Given the description of an element on the screen output the (x, y) to click on. 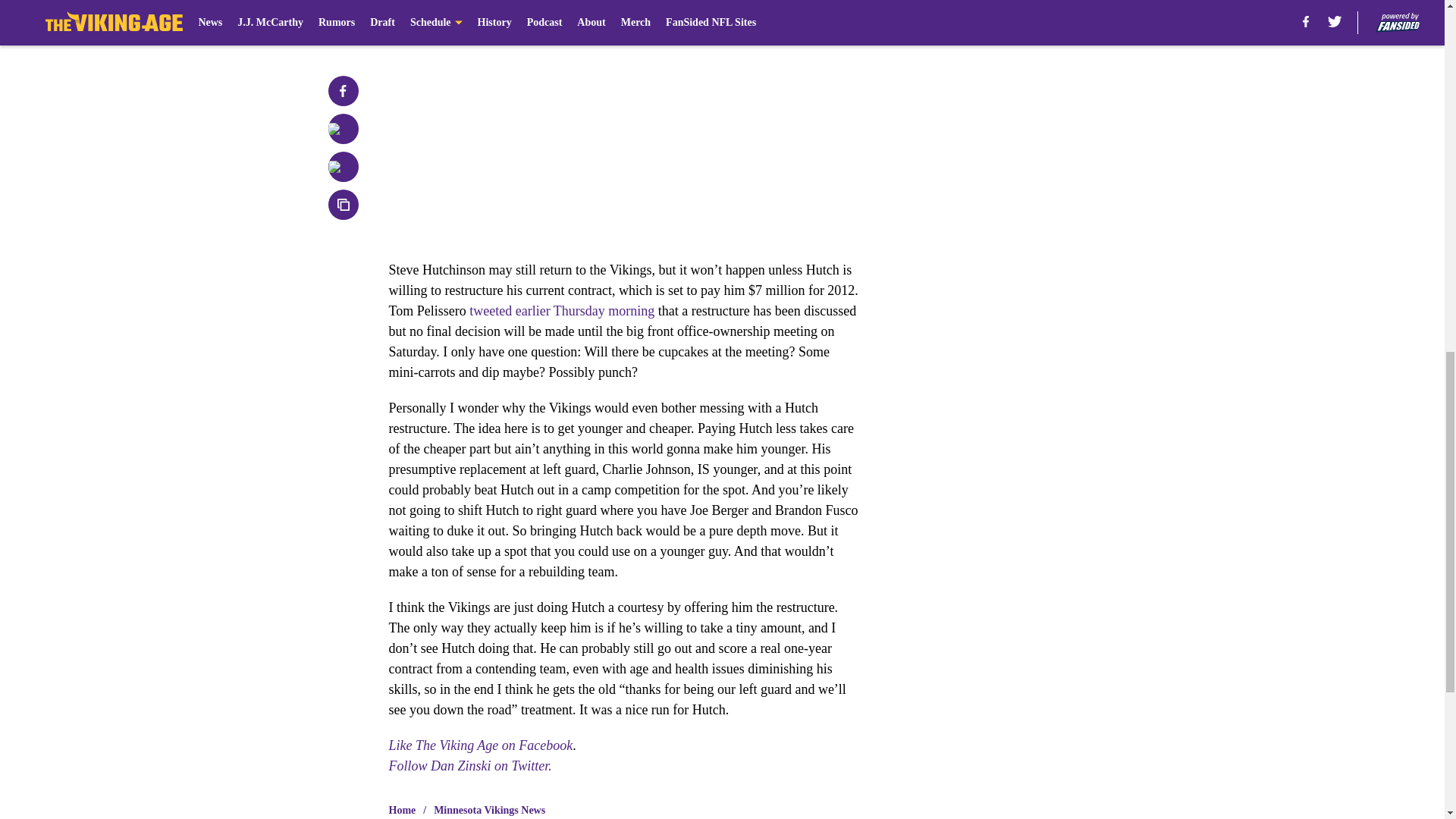
Like The Viking Age on Facebook (480, 744)
tweeted earlier Thursday morning (560, 310)
Minnesota Vikings News (488, 810)
Home (401, 810)
Follow Dan Zinski on Twitter. (469, 765)
